Given the description of an element on the screen output the (x, y) to click on. 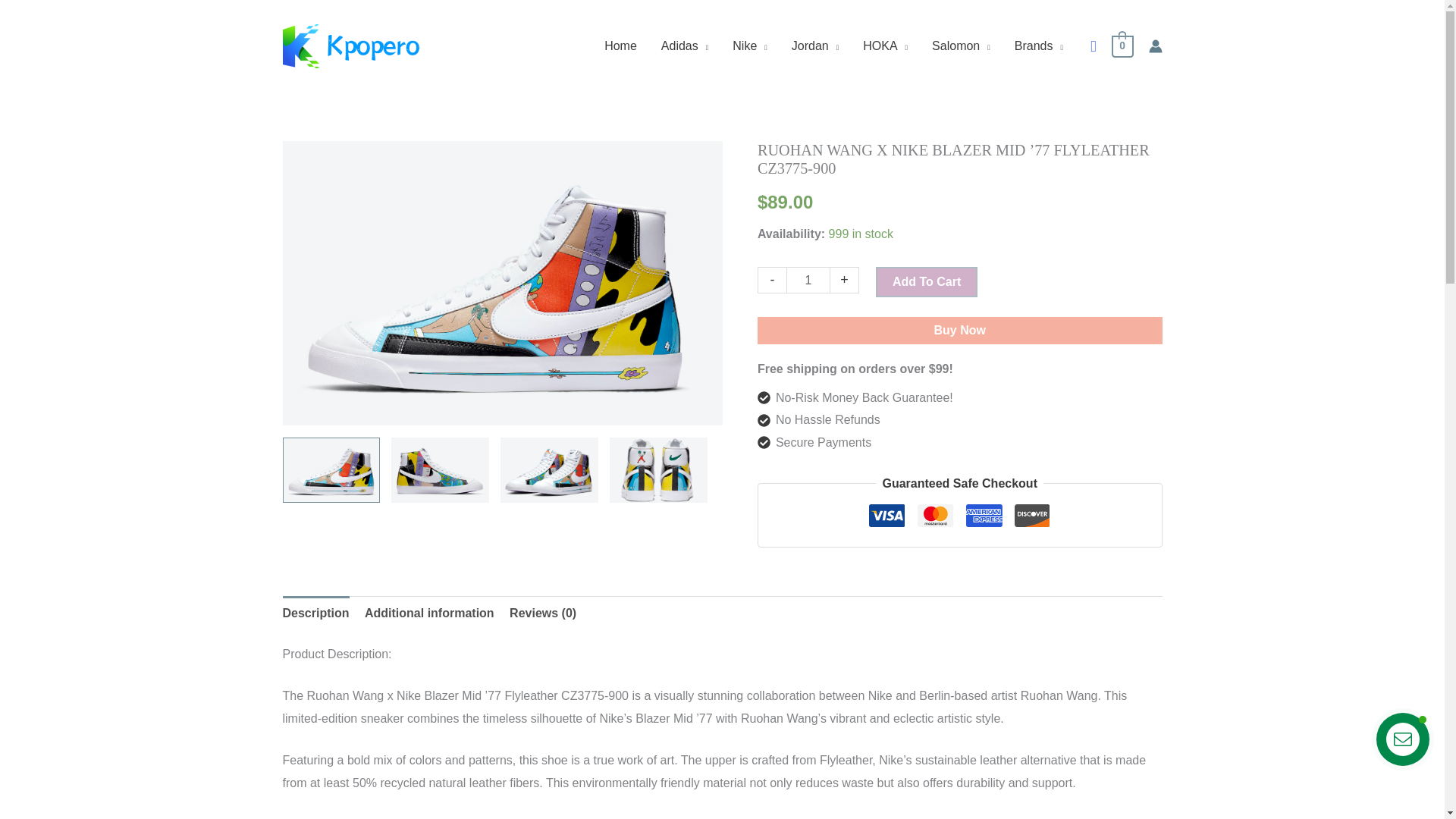
1 (807, 279)
Home (620, 45)
Adidas (684, 45)
Nike (749, 45)
